Given the description of an element on the screen output the (x, y) to click on. 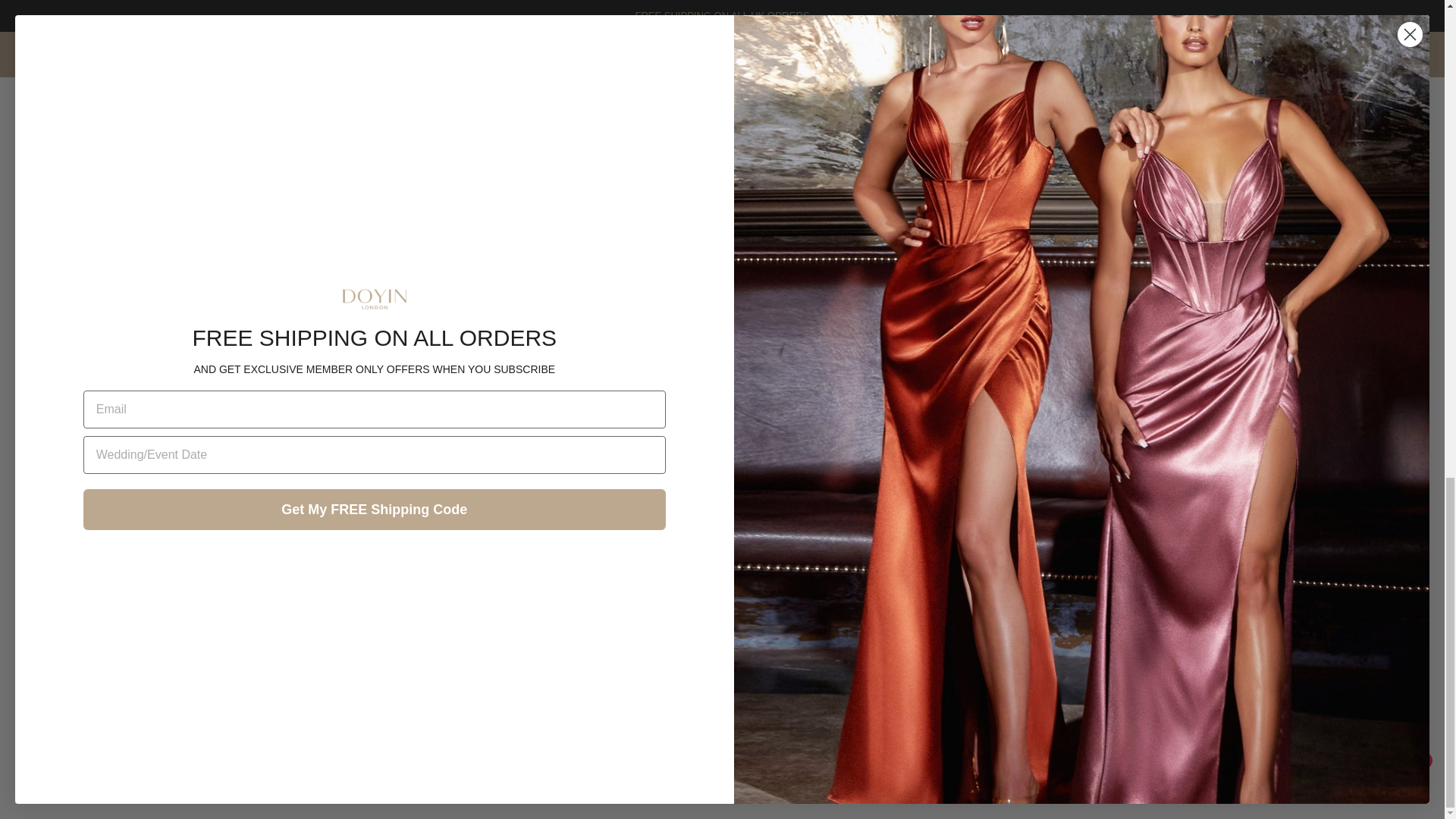
DOYIN LONDON on Facebook (762, 708)
DOYIN LONDON on Twitter (757, 730)
DOYIN LONDON on Instagram (763, 775)
DOYIN LONDON on Pinterest (760, 753)
